Given the description of an element on the screen output the (x, y) to click on. 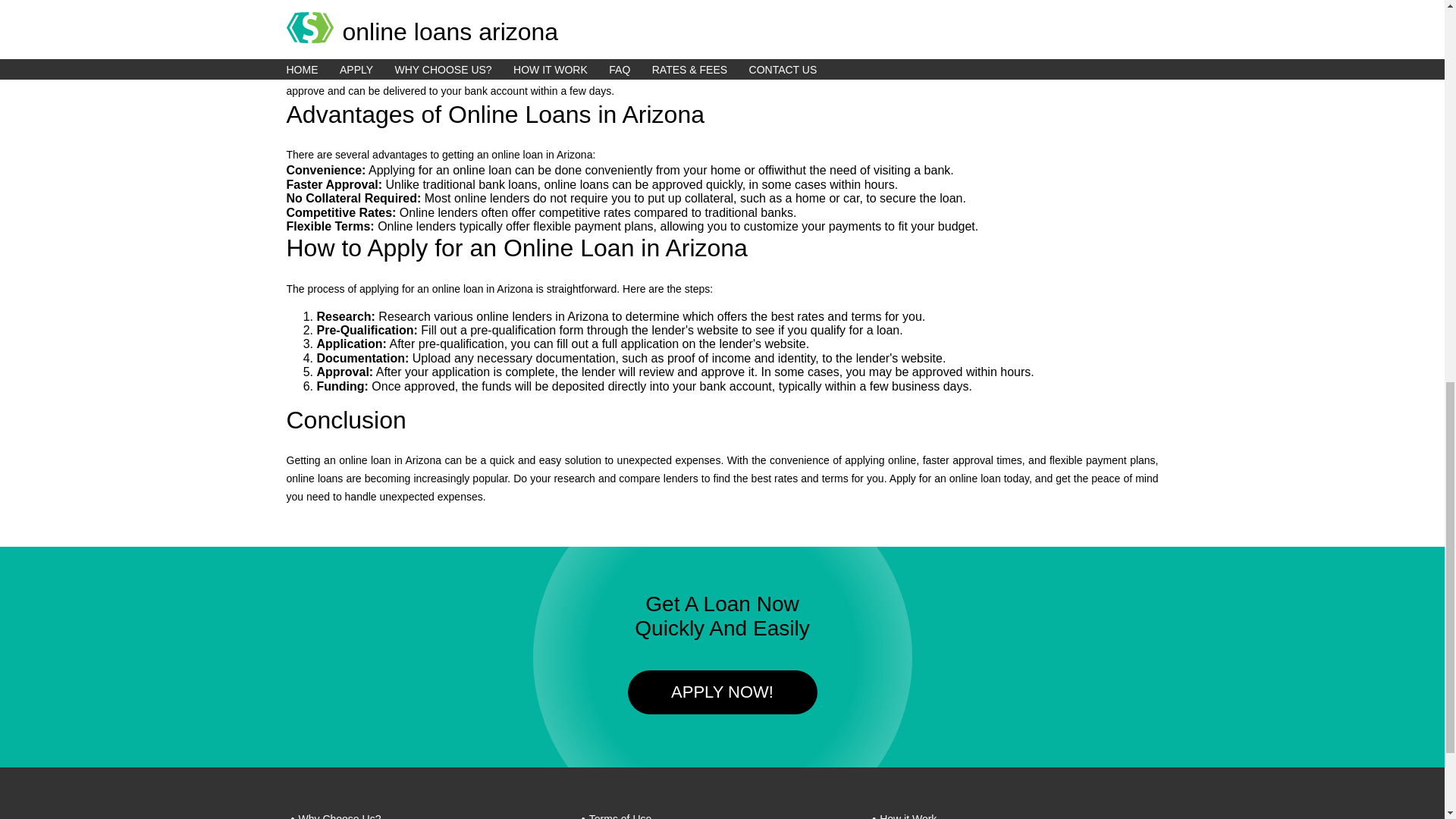
APPLY NOW! (721, 692)
APPLY NOW! (721, 693)
Terms of Use (619, 813)
Why Choose Us? (339, 813)
How it Work (907, 813)
